Given the description of an element on the screen output the (x, y) to click on. 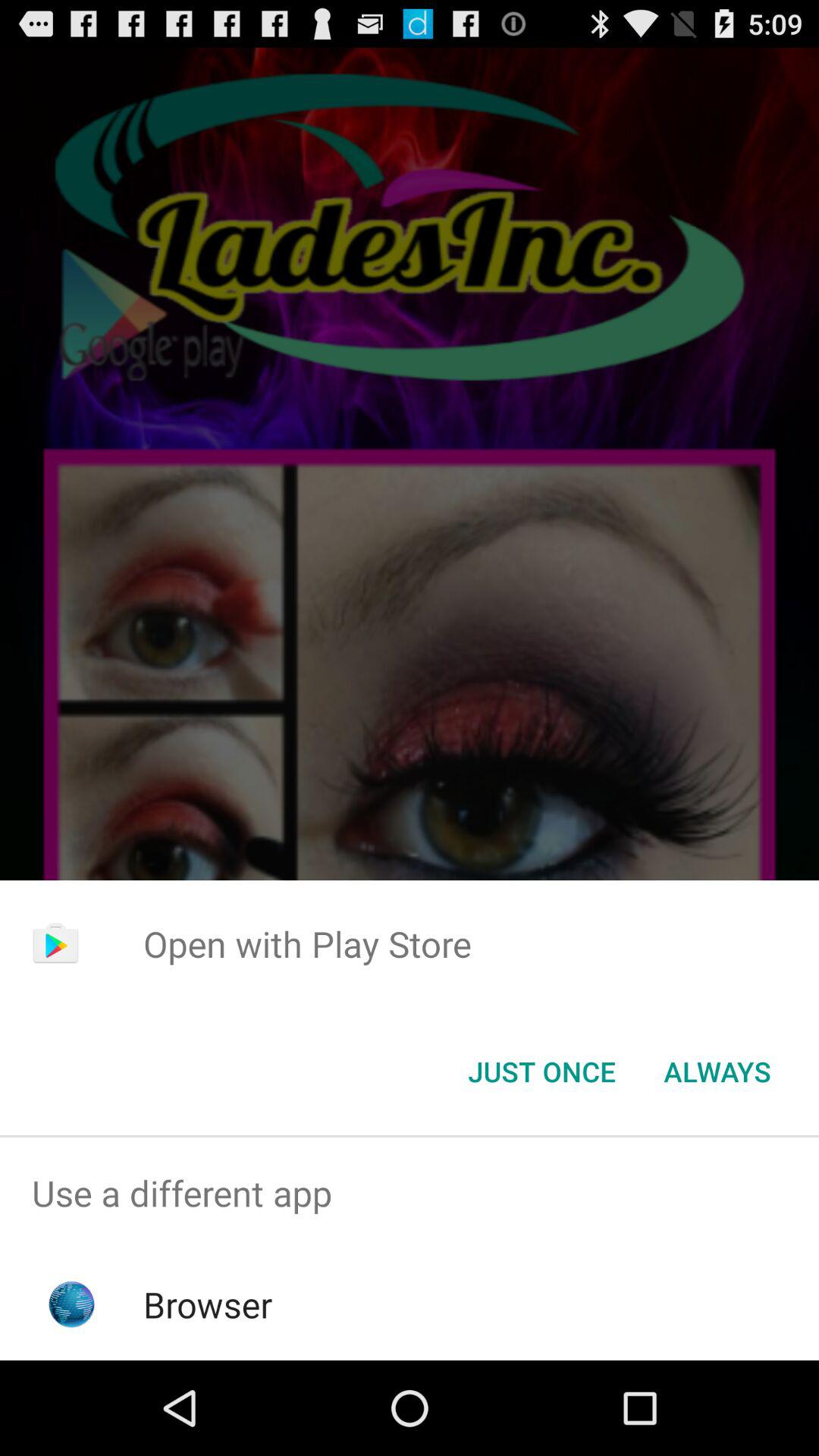
click item to the right of just once icon (717, 1071)
